Given the description of an element on the screen output the (x, y) to click on. 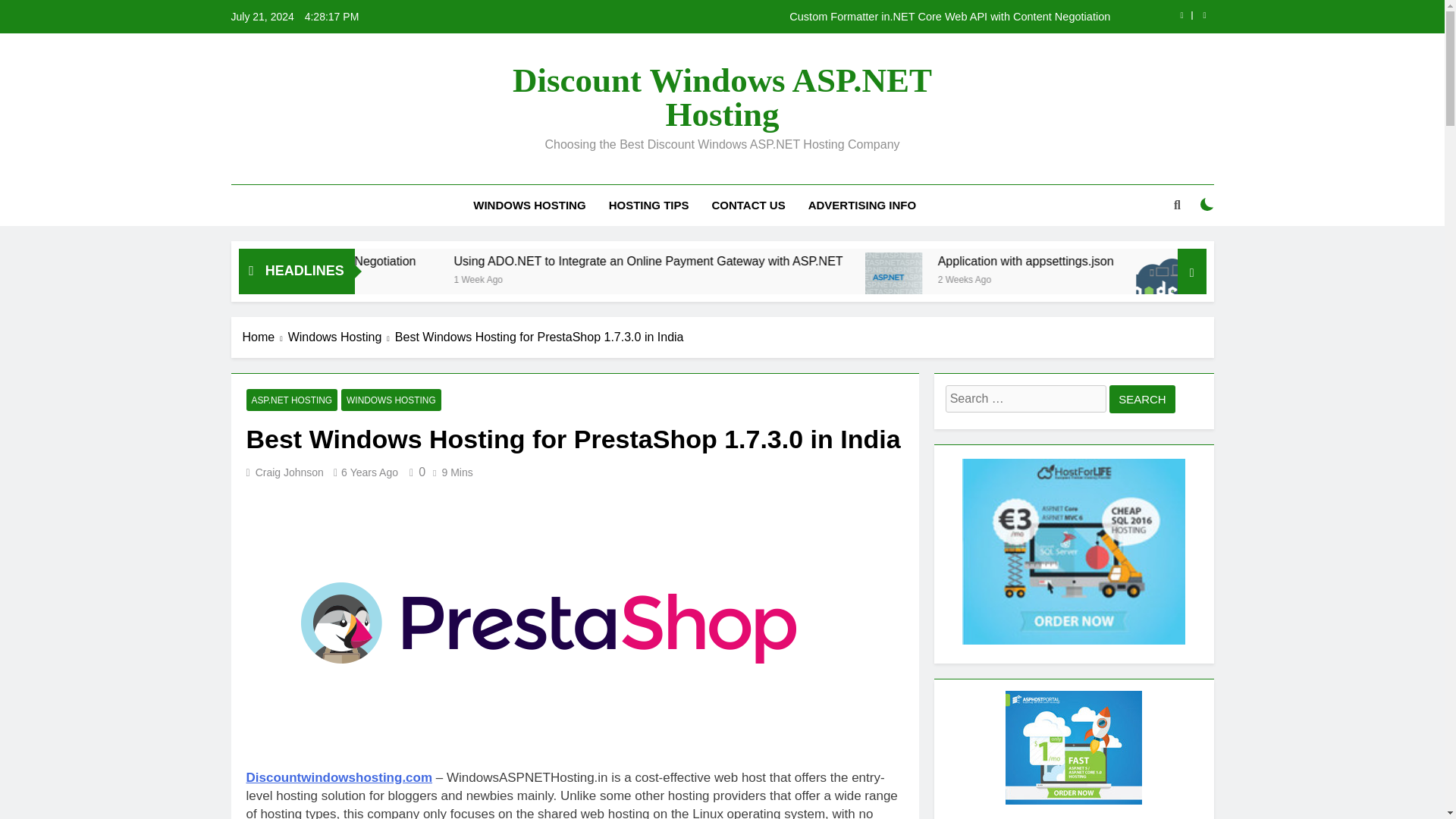
2 Weeks Ago (1204, 278)
on (1206, 204)
3 Days Ago (339, 278)
CONTACT US (748, 205)
HOSTING TIPS (648, 205)
Application with appsettings.json (1055, 280)
Search (1141, 398)
Discount Windows ASP.NET Hosting (721, 97)
Application with appsettings.json (1051, 280)
Application with appsettings.json (1178, 260)
